Given the description of an element on the screen output the (x, y) to click on. 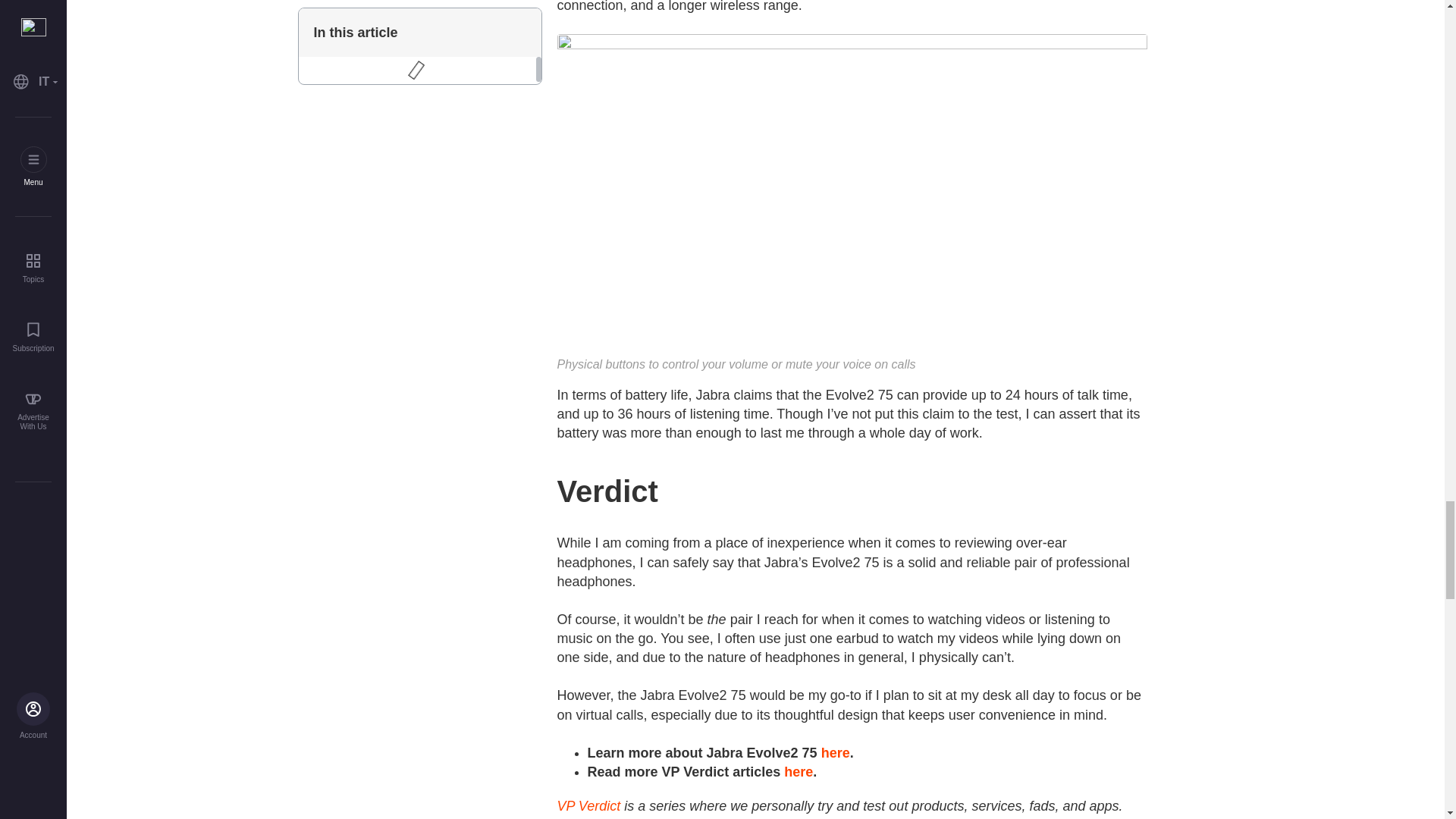
here (835, 752)
VP Verdict (588, 806)
here (798, 771)
